Given the description of an element on the screen output the (x, y) to click on. 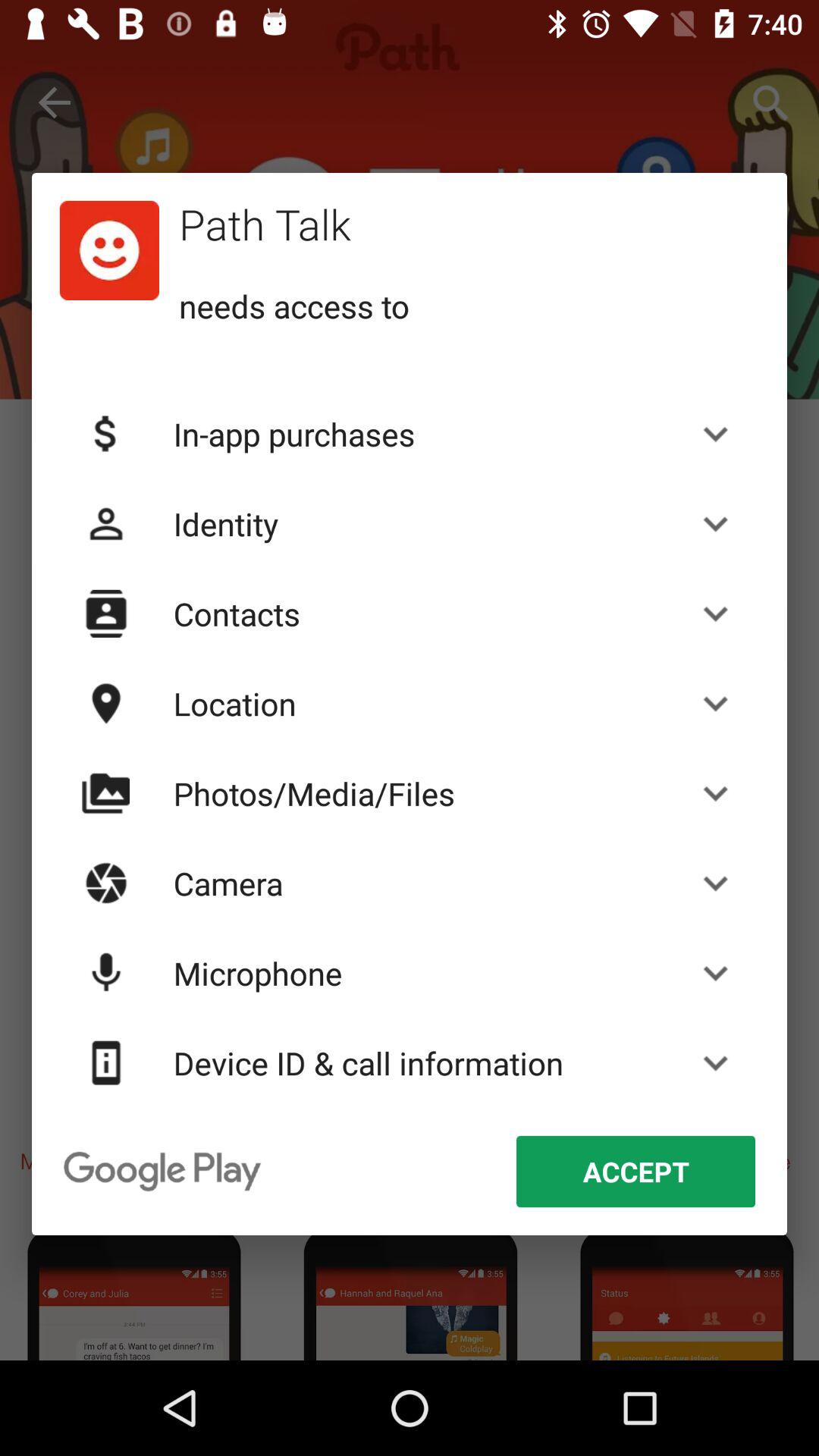
open accept (635, 1171)
